Given the description of an element on the screen output the (x, y) to click on. 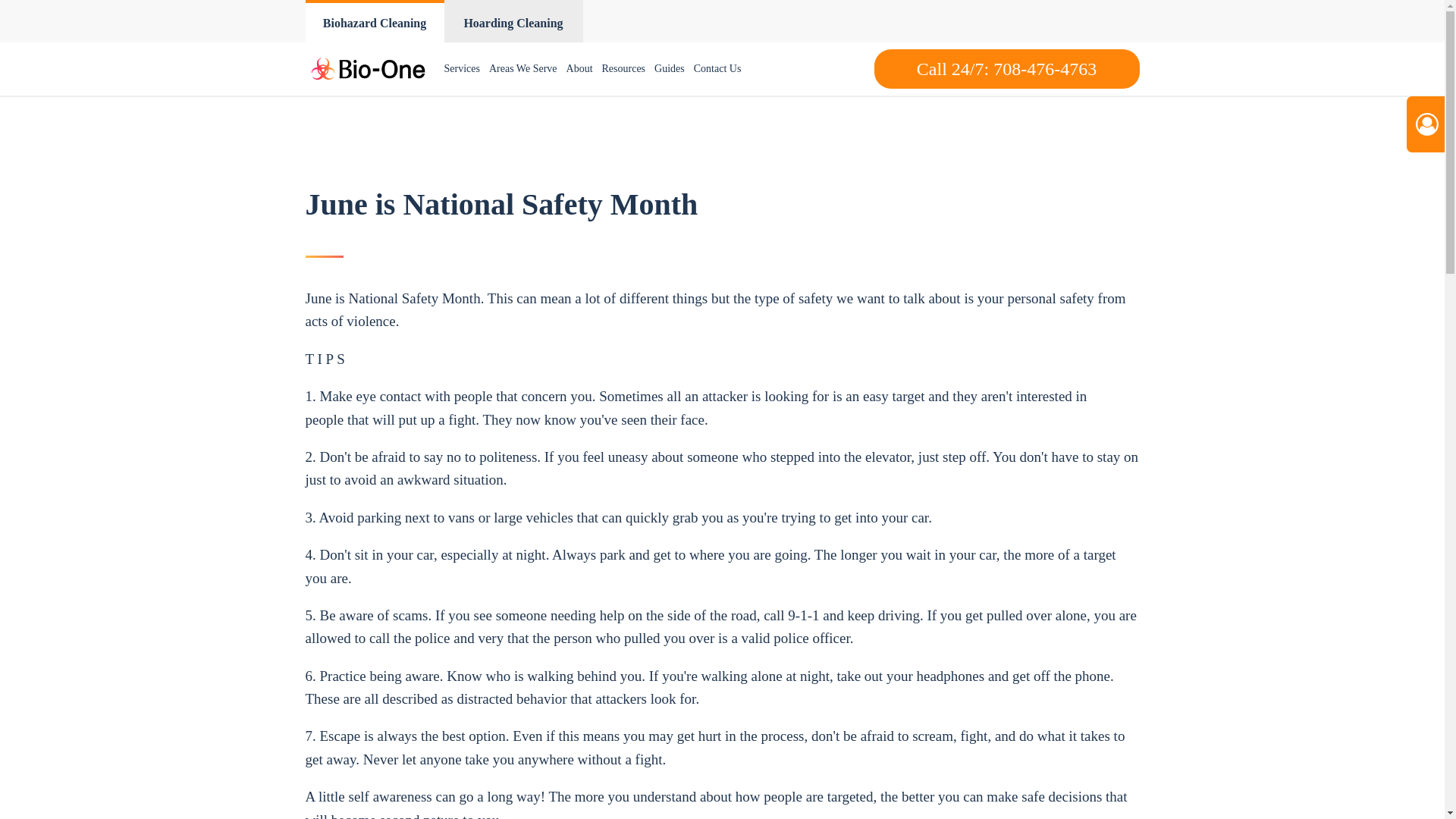
Resources (623, 68)
Hoarding Cleaning (513, 21)
Contact Us (716, 68)
Areas We Serve (523, 68)
Services (461, 68)
Biohazard Cleaning (374, 21)
